Given the description of an element on the screen output the (x, y) to click on. 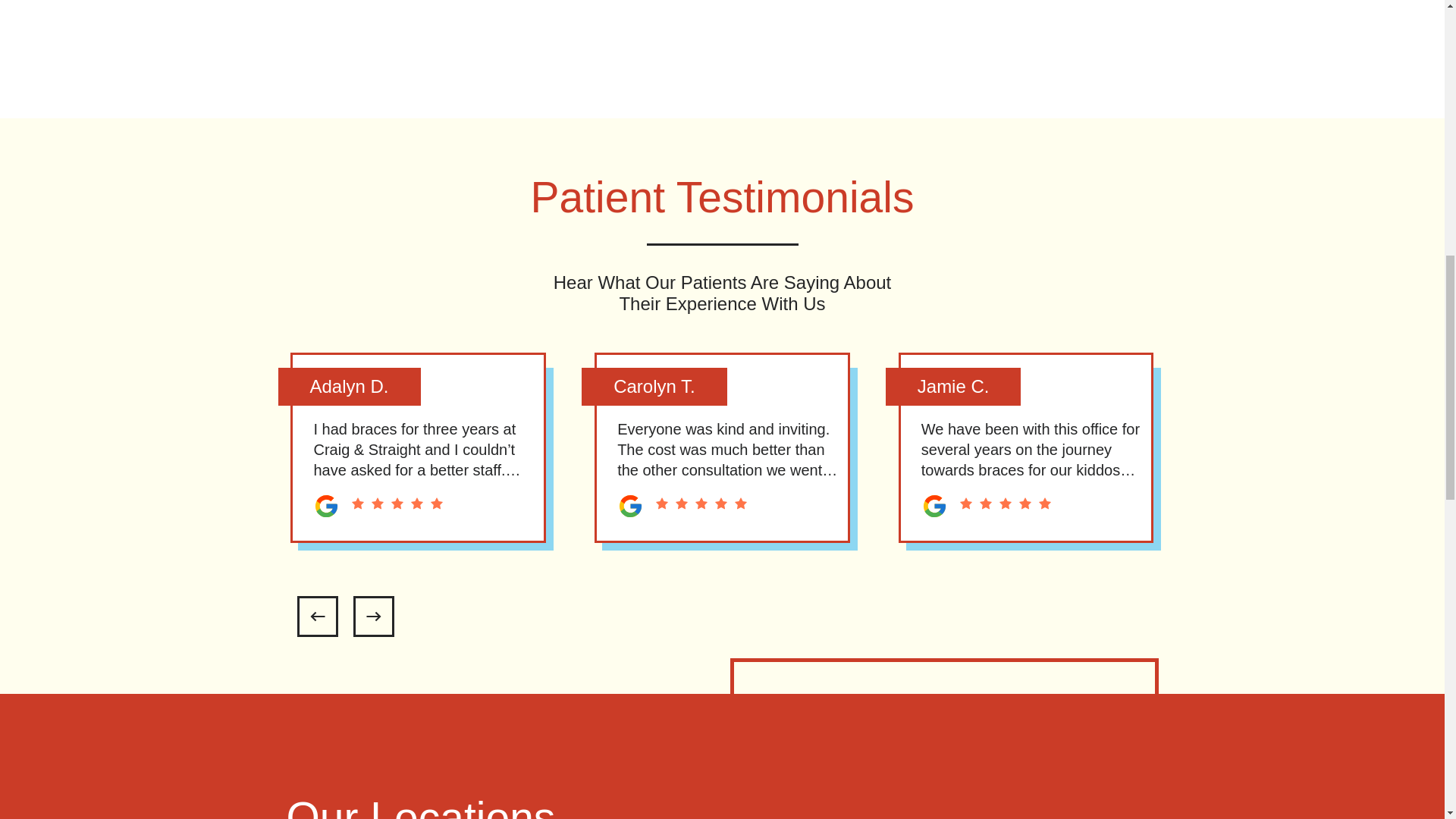
Carolyn T. (653, 386)
Jamie C. (953, 386)
Adalyn D. (349, 386)
